Given the description of an element on the screen output the (x, y) to click on. 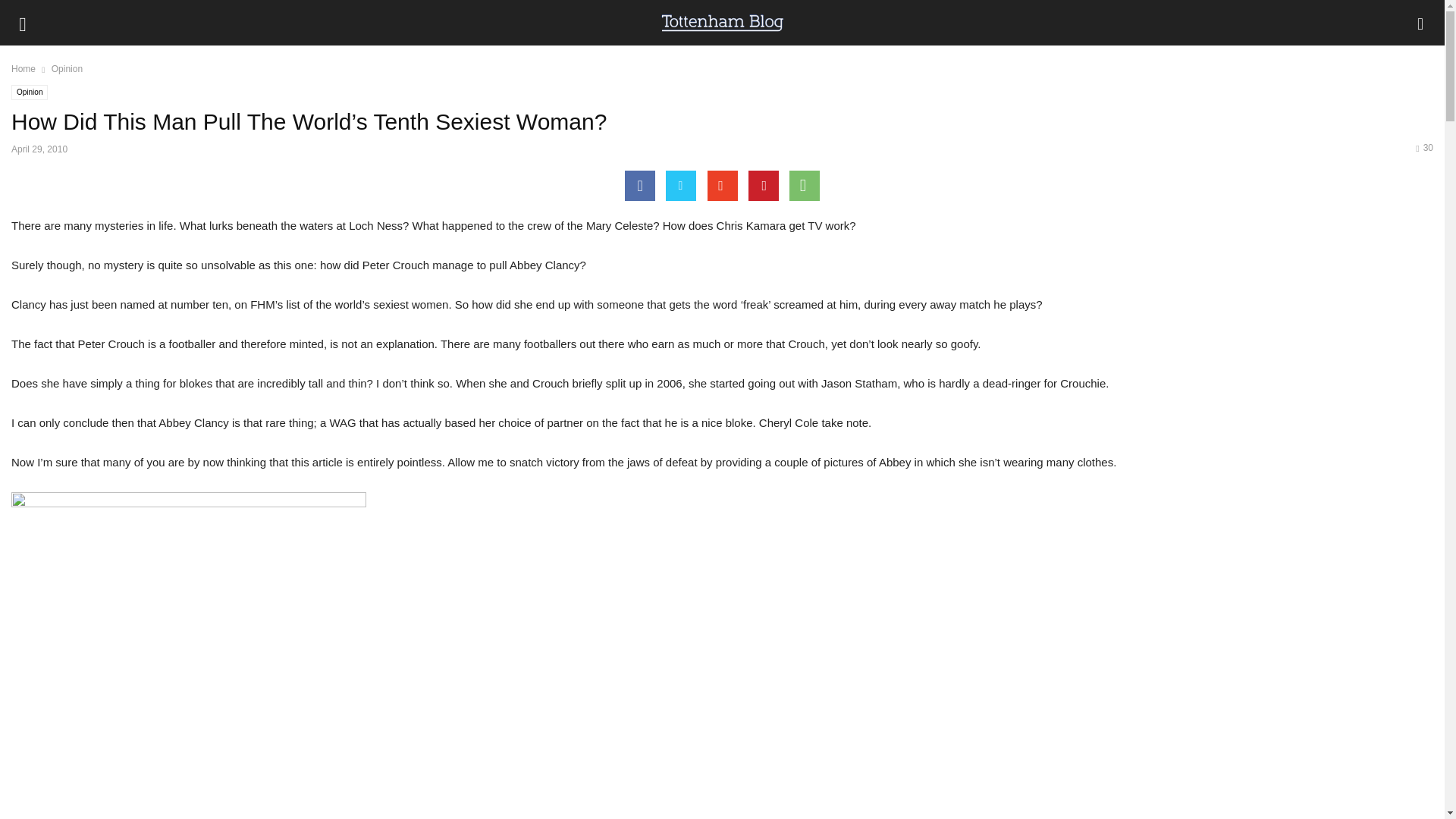
Opinion (66, 68)
Home (22, 68)
Opinion (29, 92)
Search (26, 11)
30 (1423, 147)
View all posts in Opinion (66, 68)
